Given the description of an element on the screen output the (x, y) to click on. 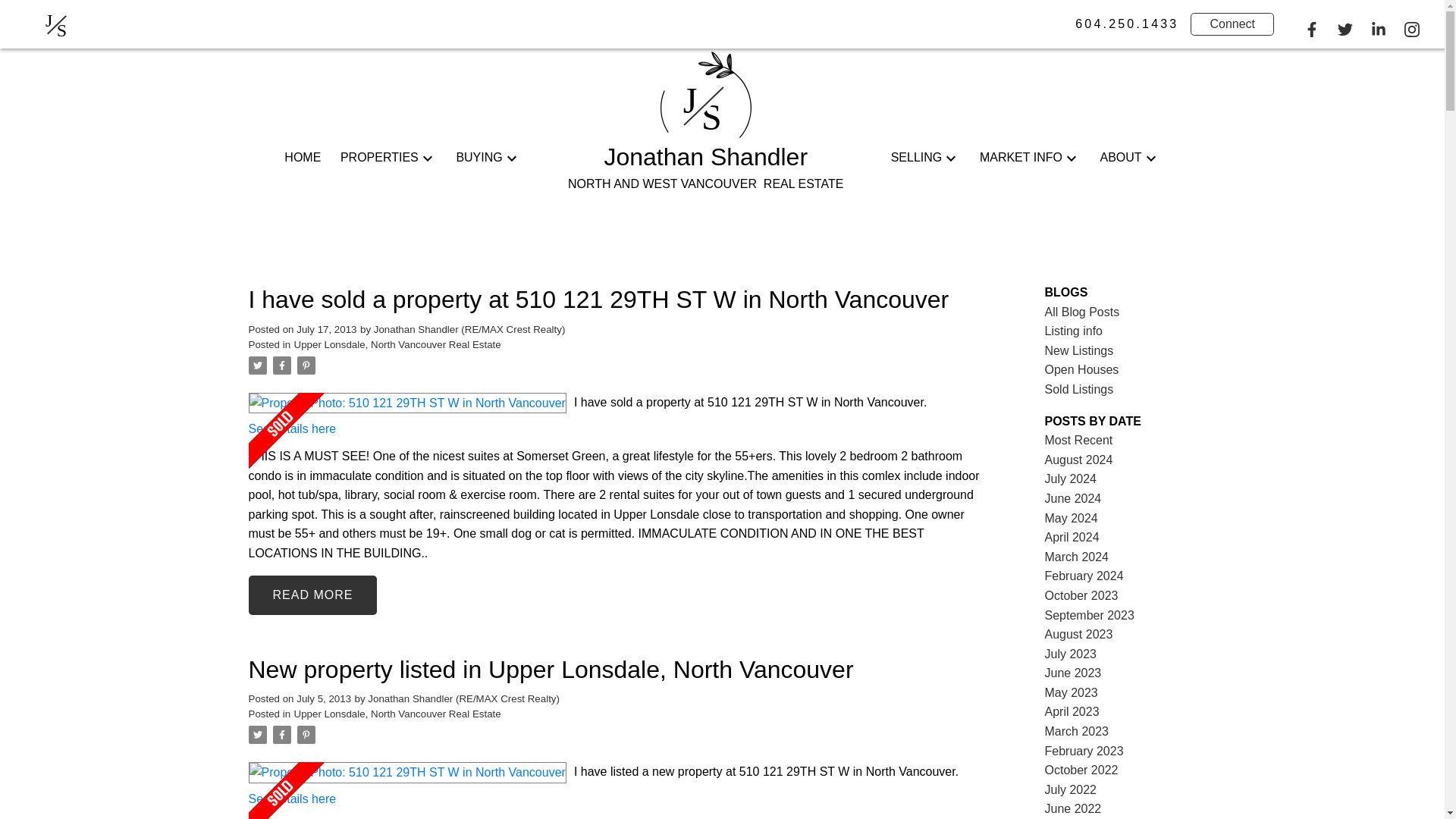
Upper Lonsdale, North Vancouver Real Estate (397, 344)
HOME (301, 157)
See details here (292, 428)
READ (312, 595)
New property listed in Upper Lonsdale, North Vancouver (616, 669)
Connect (1232, 24)
Upper Lonsdale, North Vancouver Real Estate (397, 713)
